Given the description of an element on the screen output the (x, y) to click on. 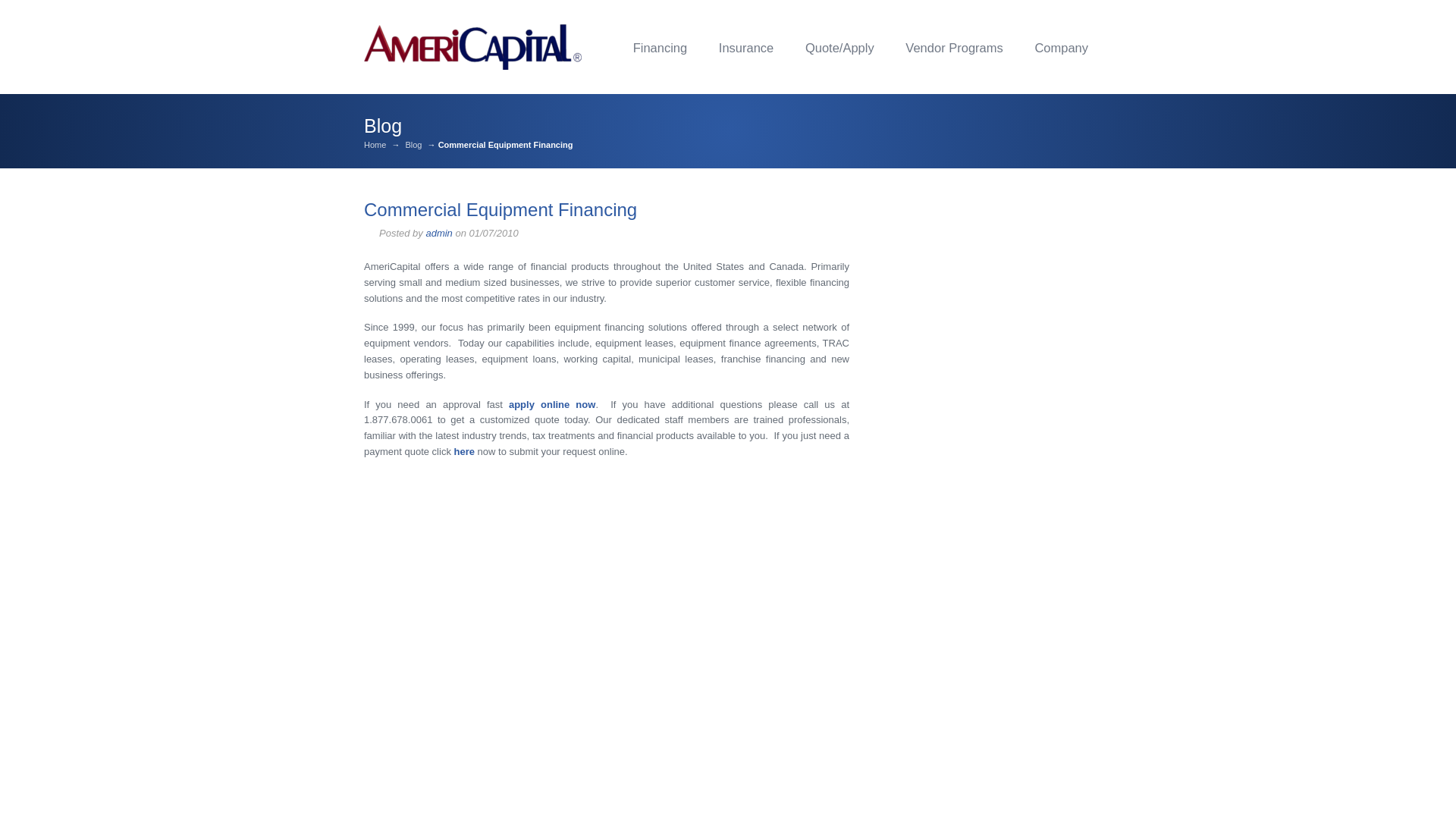
Commercial Equipment Financing (500, 209)
Online Credit Application (839, 47)
Insurance (745, 47)
Posts by admin (438, 233)
Home (374, 144)
Financing (659, 47)
admin (438, 233)
apply online now (551, 404)
here (464, 451)
Company (1061, 47)
Blog (413, 144)
Vendor Programs (953, 47)
Commercial Equipment Financing (500, 209)
